Given the description of an element on the screen output the (x, y) to click on. 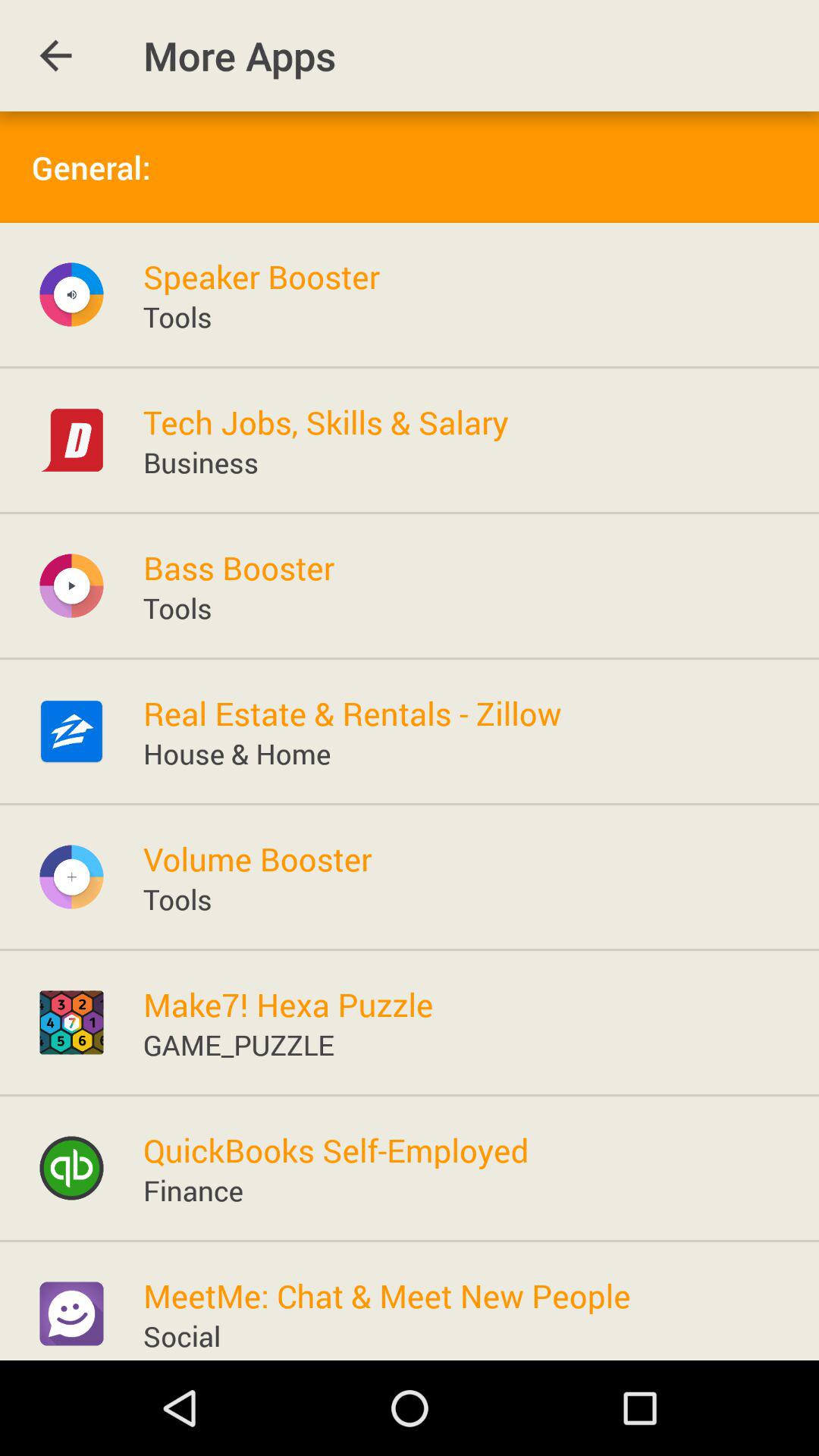
swipe to game_puzzle icon (238, 1044)
